Given the description of an element on the screen output the (x, y) to click on. 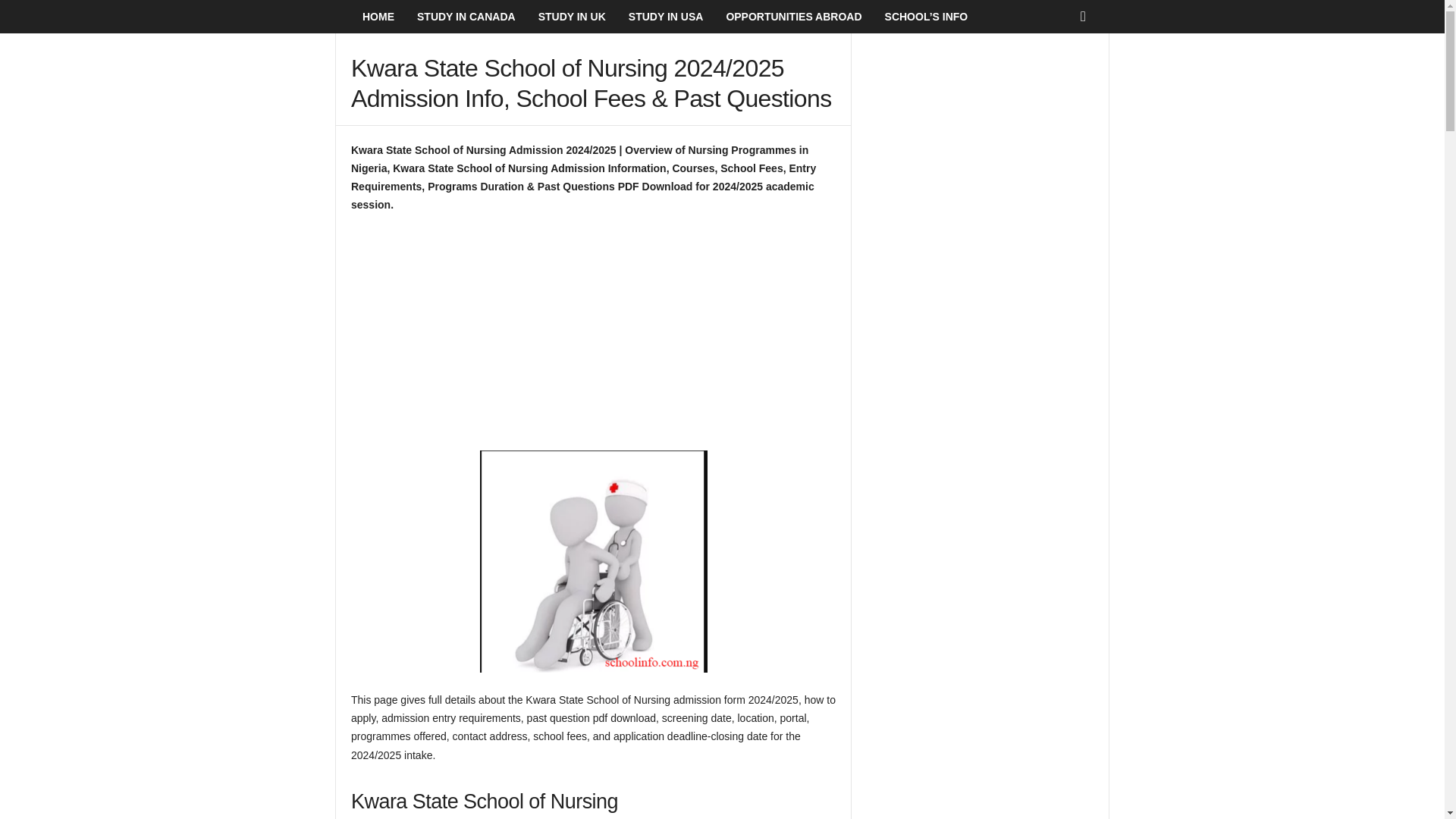
STUDY IN CANADA (466, 16)
STUDY IN UK (572, 16)
HOME (378, 16)
STUDY IN USA (665, 16)
Advertisement (592, 337)
OPPORTUNITIES ABROAD (793, 16)
